Given the description of an element on the screen output the (x, y) to click on. 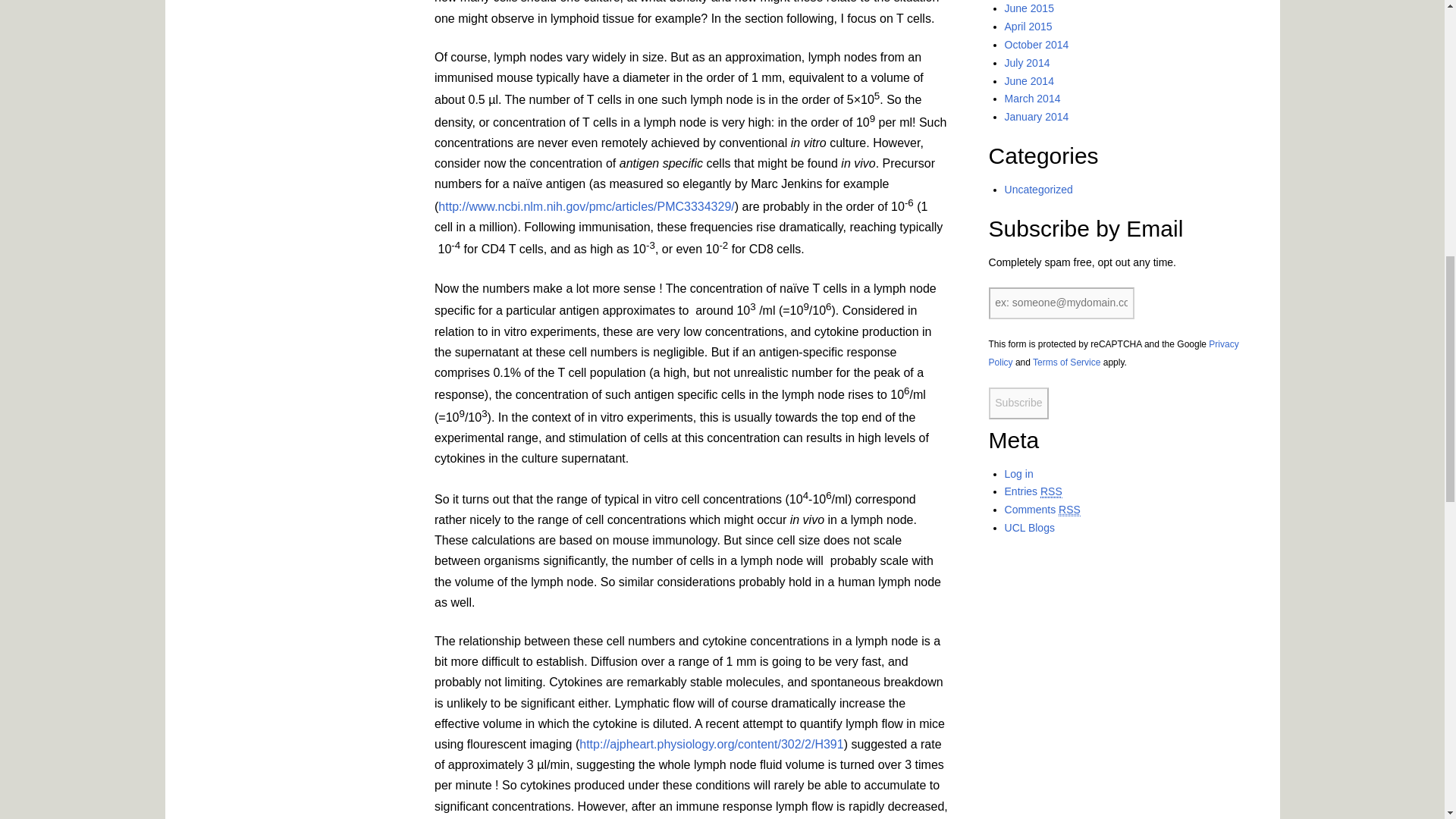
Really Simple Syndication (1051, 491)
The latest comments to all posts in RSS (1042, 509)
Really Simple Syndication (1069, 509)
Subscribe (1018, 403)
Syndicate this site using RSS 2.0 (1033, 491)
Powered by UCL Blogs (1029, 527)
